Given the description of an element on the screen output the (x, y) to click on. 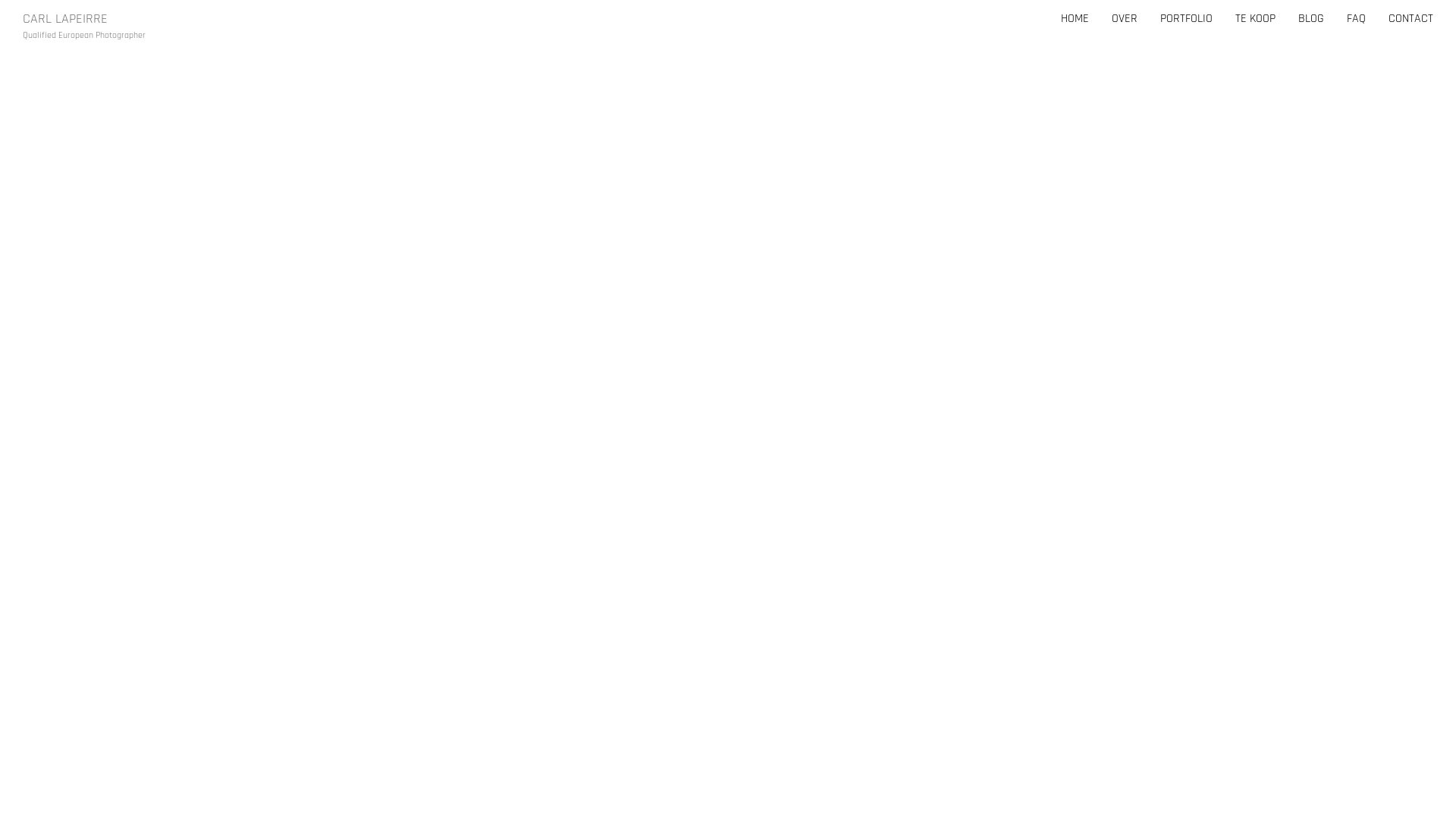
FAQ Element type: text (1356, 18)
BLOG Element type: text (1310, 18)
PORTFOLIO Element type: text (1185, 18)
CARL LAPEIRRE
Qualified European Photographer Element type: text (83, 18)
TE KOOP Element type: text (1254, 18)
HOME Element type: text (1074, 18)
CONTACT Element type: text (1410, 18)
OVER Element type: text (1124, 18)
